Given the description of an element on the screen output the (x, y) to click on. 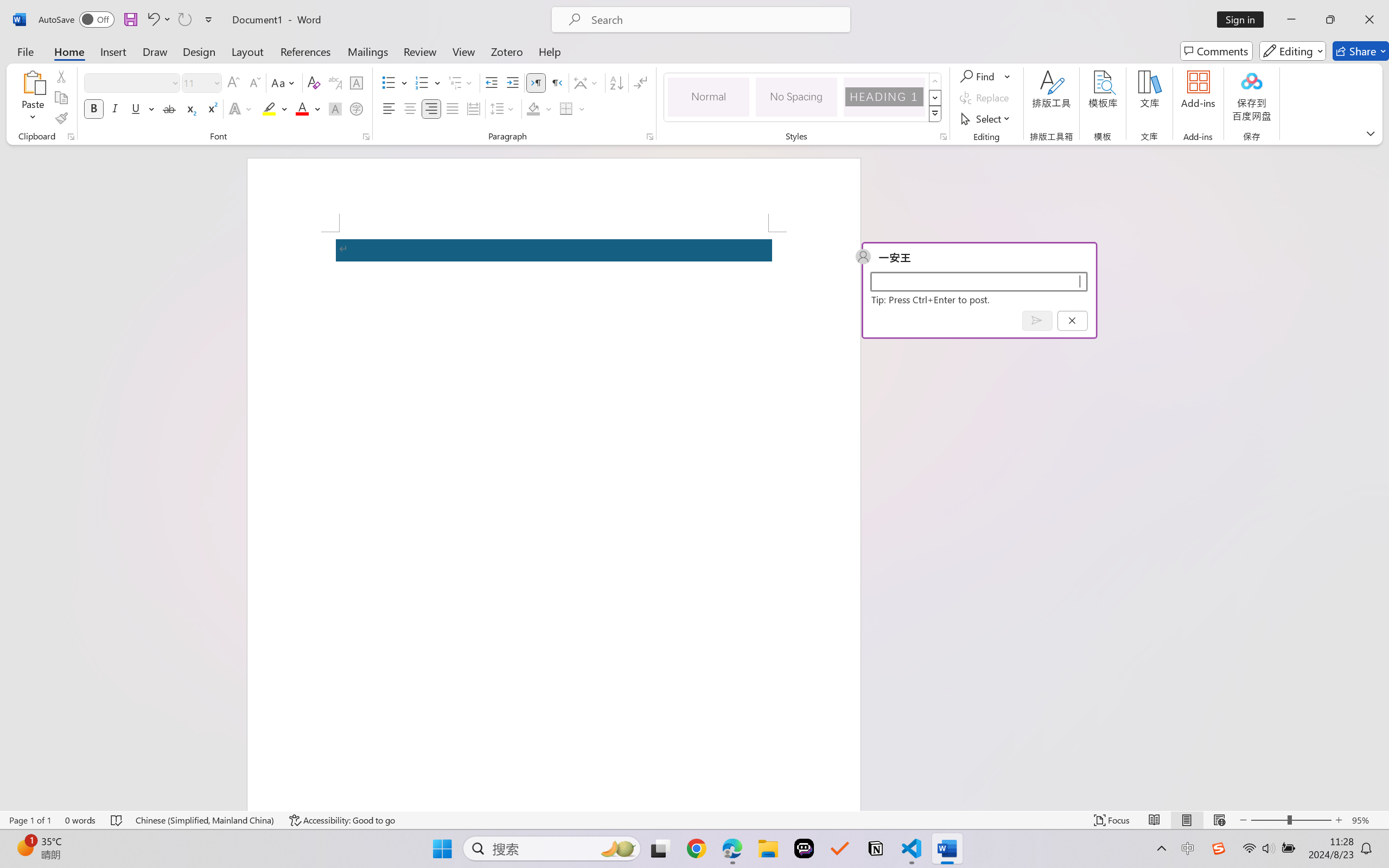
Editing (1292, 50)
Left-to-Right (535, 82)
Undo (152, 19)
